Given the description of an element on the screen output the (x, y) to click on. 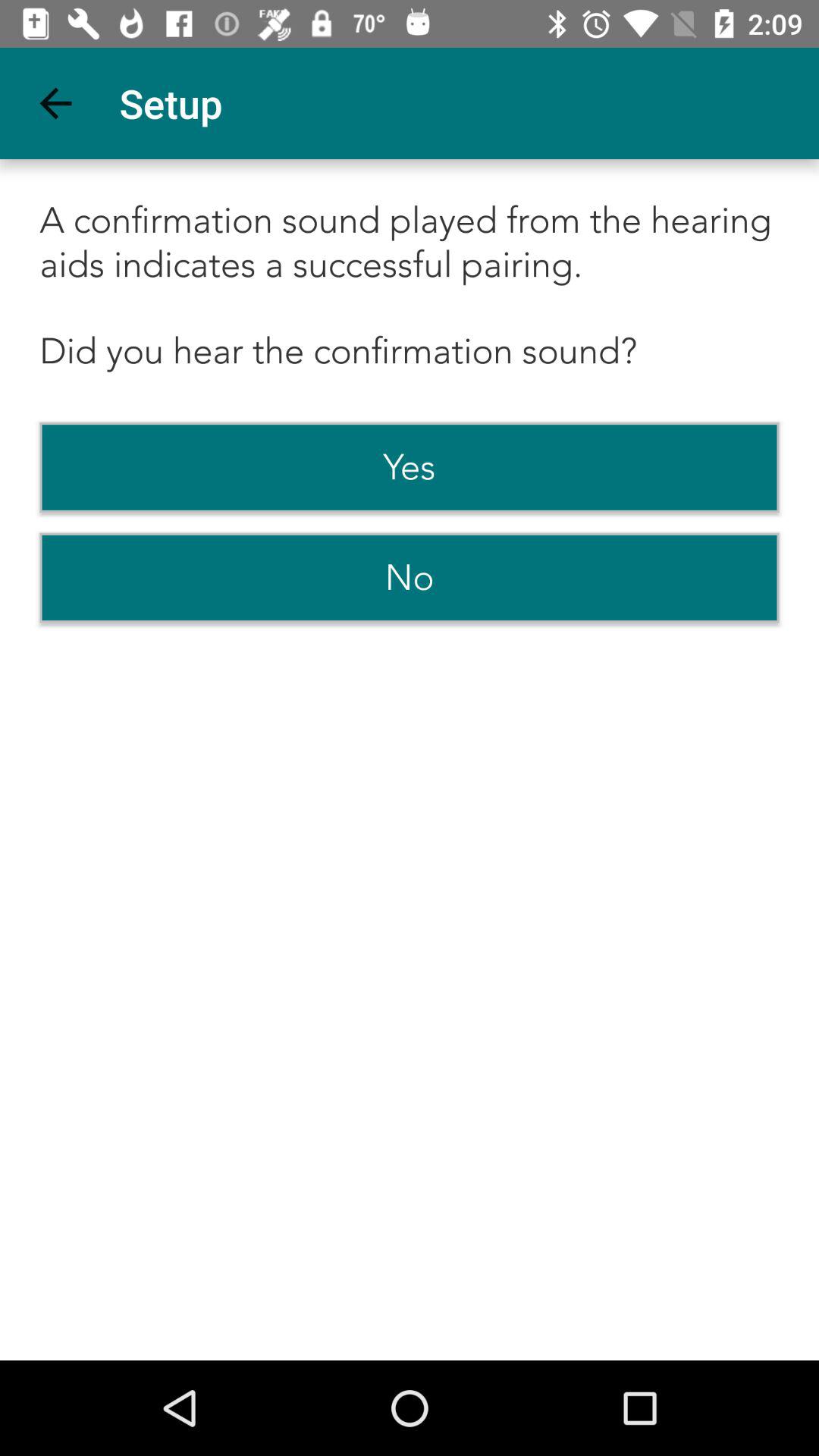
flip until the yes (409, 467)
